Given the description of an element on the screen output the (x, y) to click on. 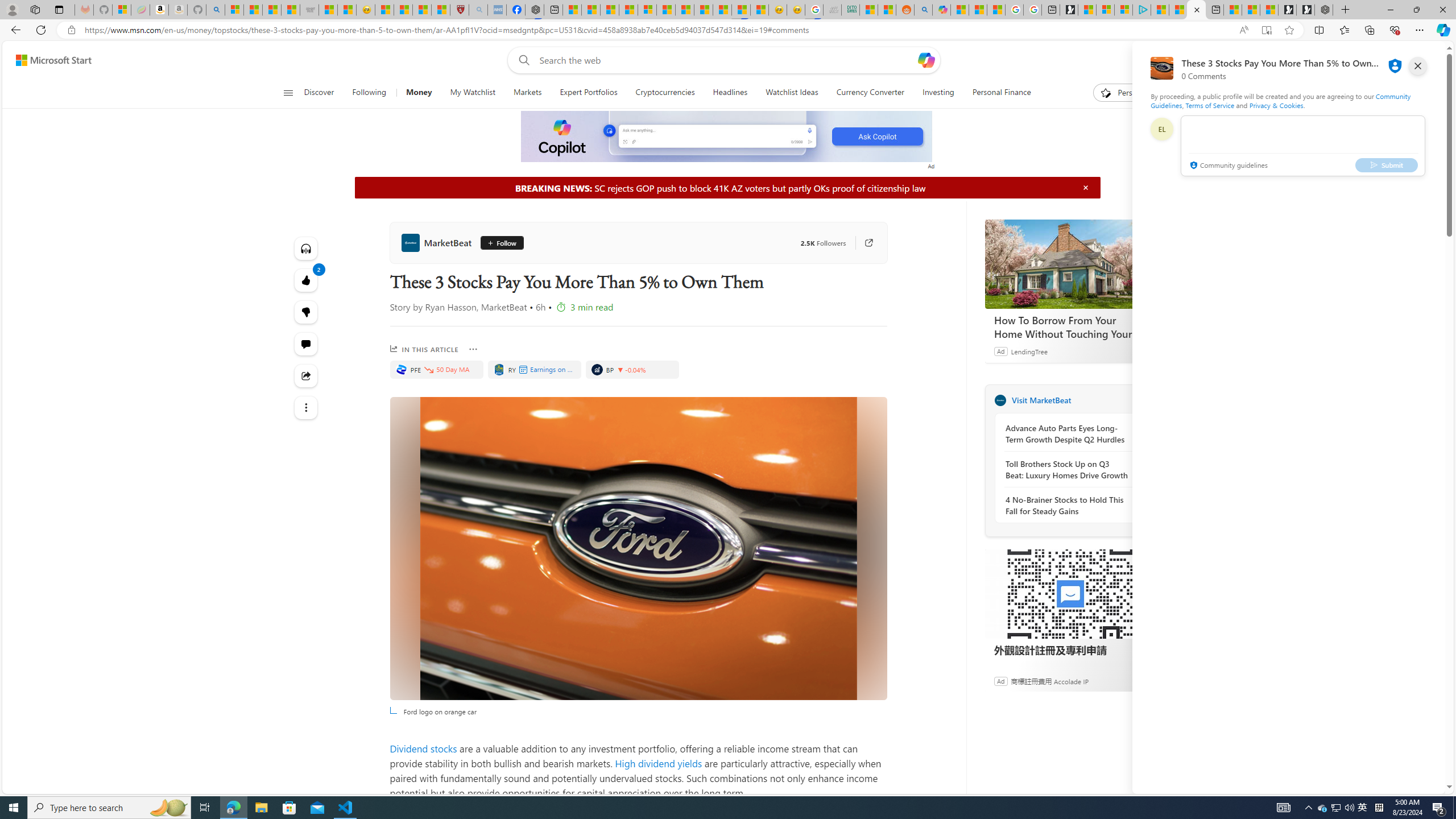
Cryptocurrencies (664, 92)
Watchlist Ideas (792, 92)
Stocks - MSN (290, 9)
More Options (473, 348)
Personal Finance (1001, 92)
How To Borrow From Your Home Without Touching Your Mortgage (1069, 326)
4 No-Brainer Stocks to Hold This Fall for Steady Gains (1066, 504)
comment-box (1302, 145)
Play Free Online Games | Games from Microsoft Start (1305, 9)
